Given the description of an element on the screen output the (x, y) to click on. 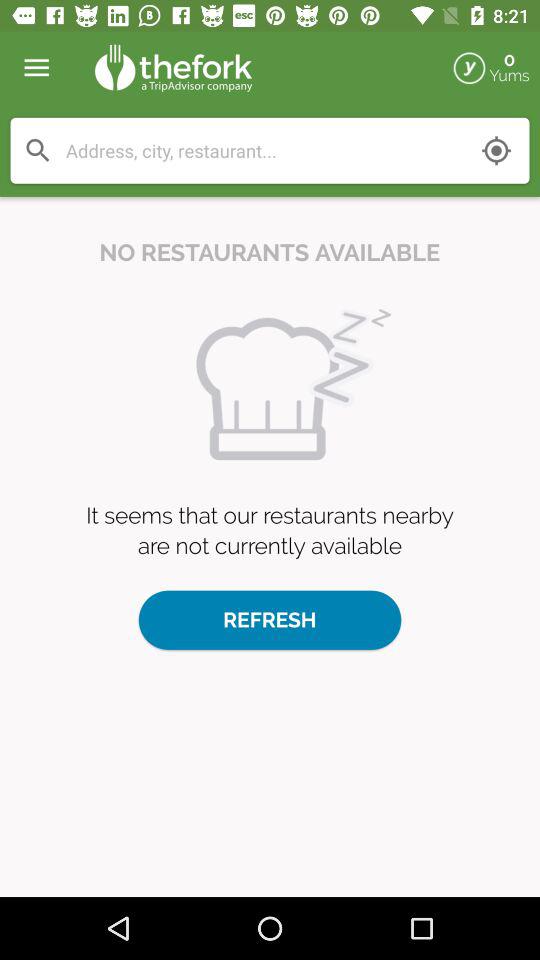
search keywords (264, 150)
